Given the description of an element on the screen output the (x, y) to click on. 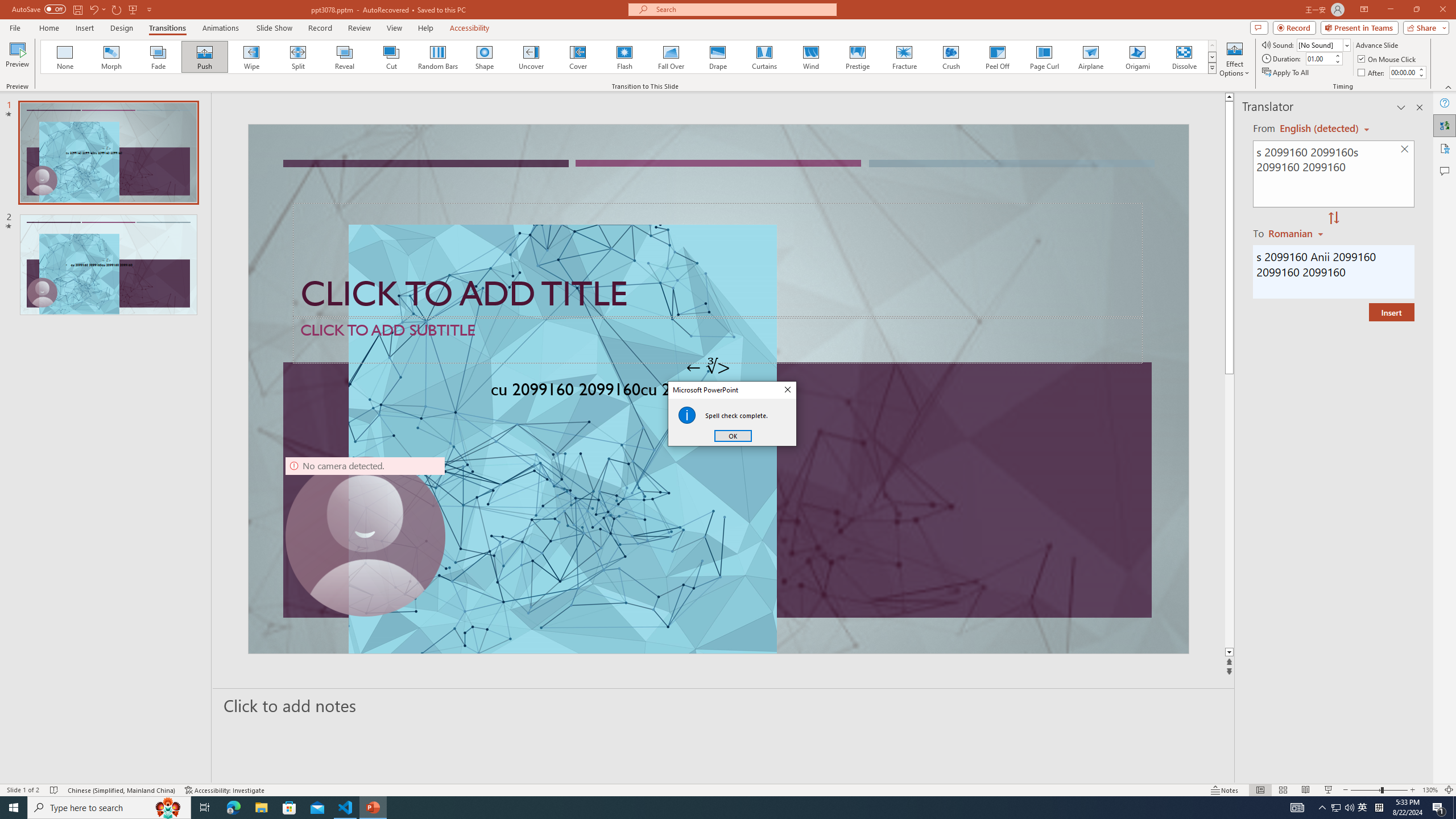
Split (298, 56)
AutomationID: AnimationTransitionGallery (628, 56)
Class: Static (686, 415)
Transition Effects (1212, 67)
Wind (810, 56)
